Given the description of an element on the screen output the (x, y) to click on. 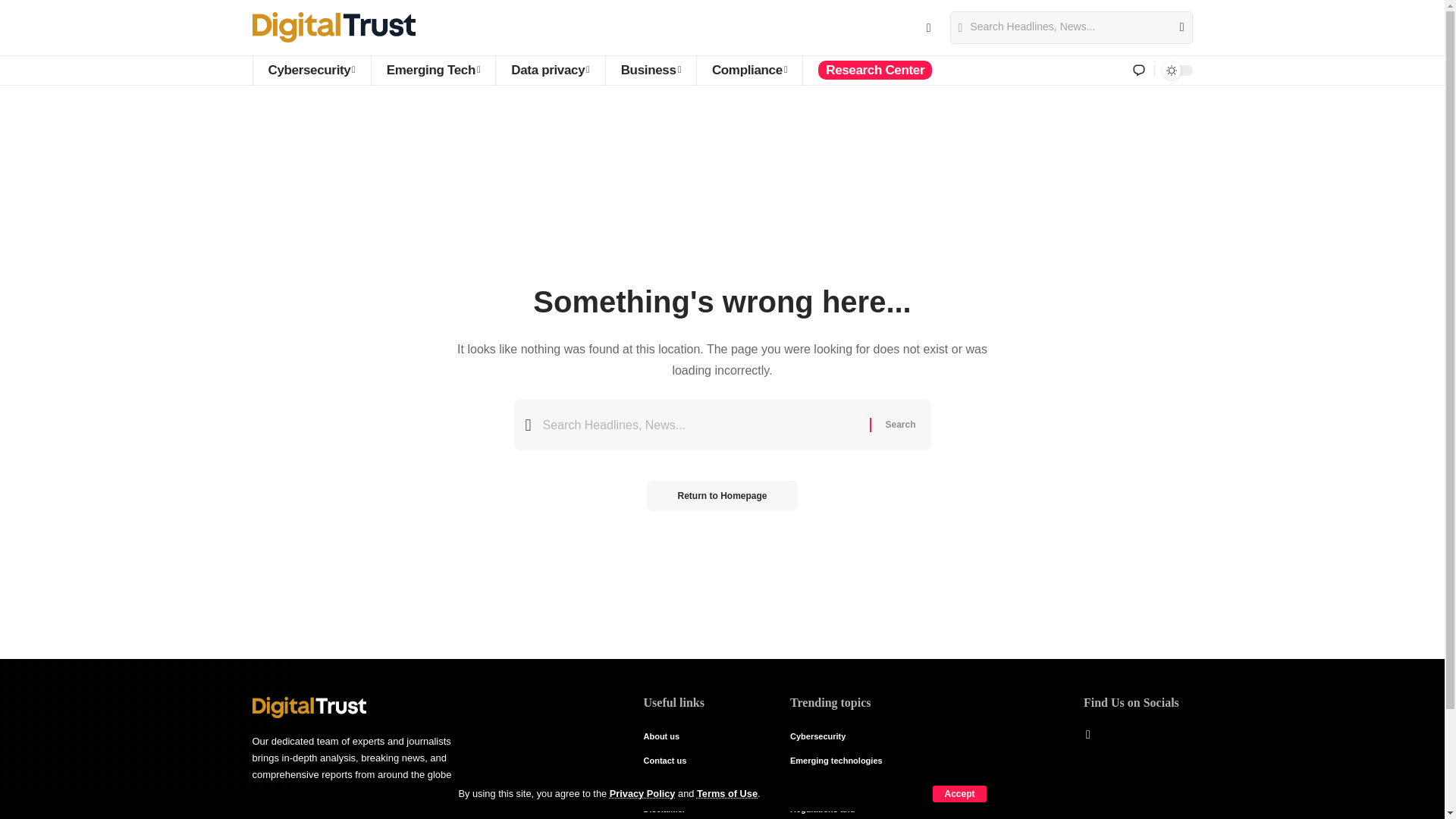
Terms of Use (727, 793)
Compliance (748, 70)
Search (1175, 27)
Business (650, 70)
Digital Trust (332, 27)
Search (899, 424)
Emerging Tech (433, 70)
Privacy Policy (642, 793)
Research Center (874, 70)
Accept (959, 793)
